Given the description of an element on the screen output the (x, y) to click on. 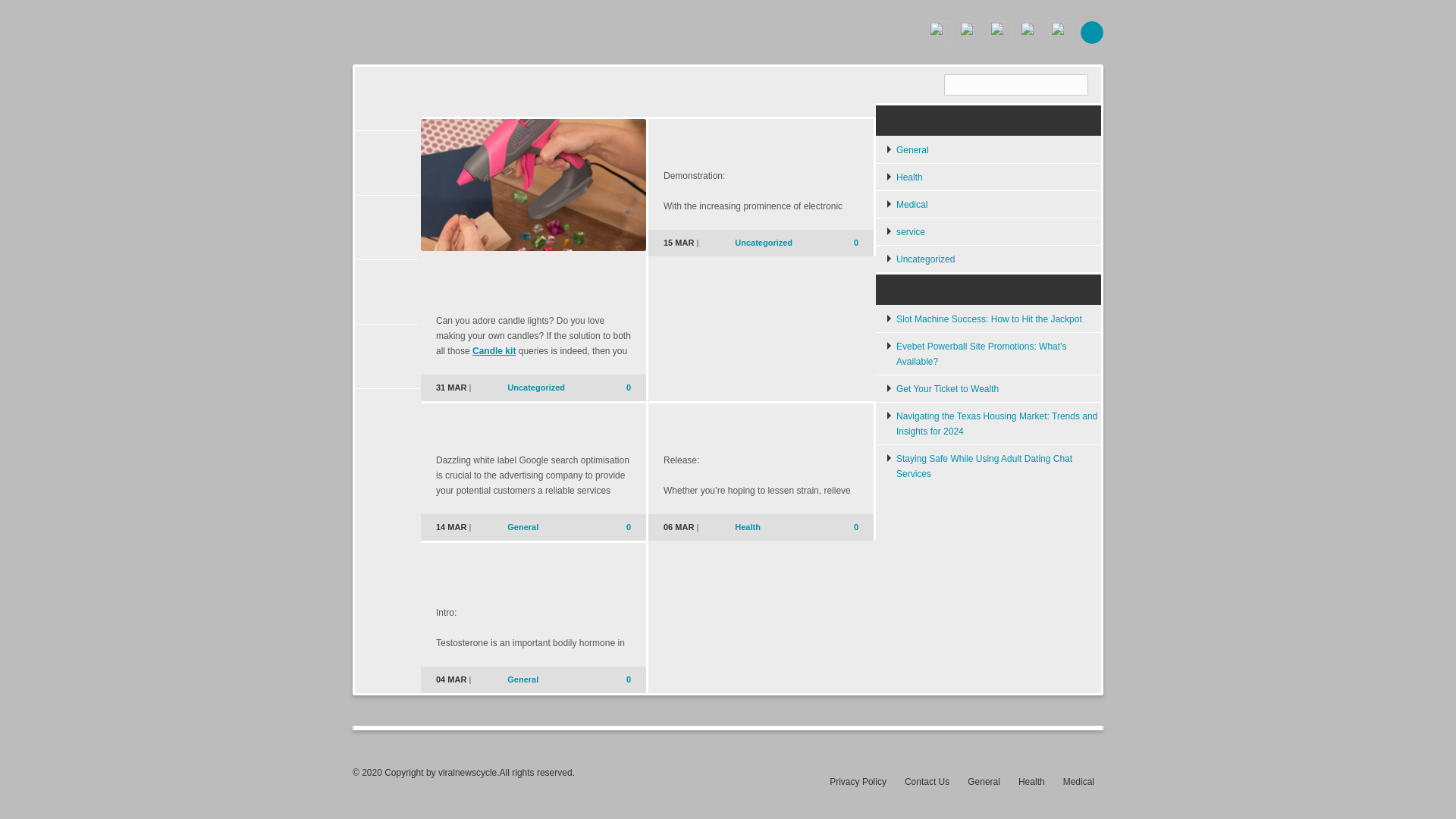
Uncategorized (535, 387)
March 31, 2023 (450, 387)
March 6, 2023 (678, 526)
06 MAR (678, 526)
March 14, 2023 (450, 526)
15 MAR (678, 242)
31 MAR (450, 387)
March 15, 2023 (678, 242)
14 MAR (450, 526)
